Given the description of an element on the screen output the (x, y) to click on. 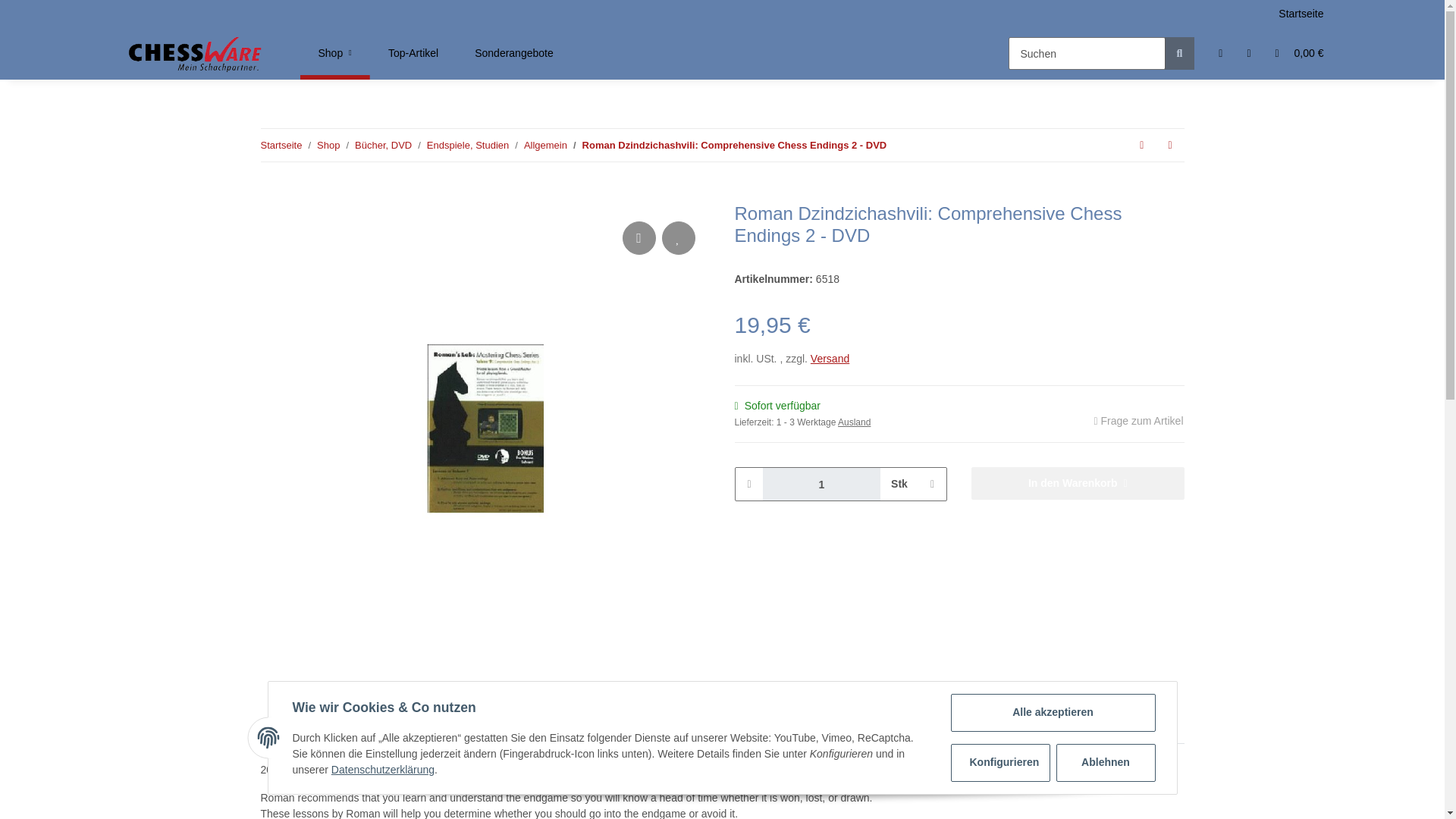
Shop (335, 53)
Startseite (281, 145)
ChessWare (195, 53)
Endspiele, Studien (467, 145)
Shop (647, 53)
Top-Artikel (328, 145)
Sonderangebote (413, 53)
Startseite (514, 53)
Shop (1300, 13)
Roman Dzindzichashvili: Comprehensive Chess Endings 2 - DVD (335, 53)
Shop (734, 145)
1 (335, 53)
Allgemein (821, 483)
